Given the description of an element on the screen output the (x, y) to click on. 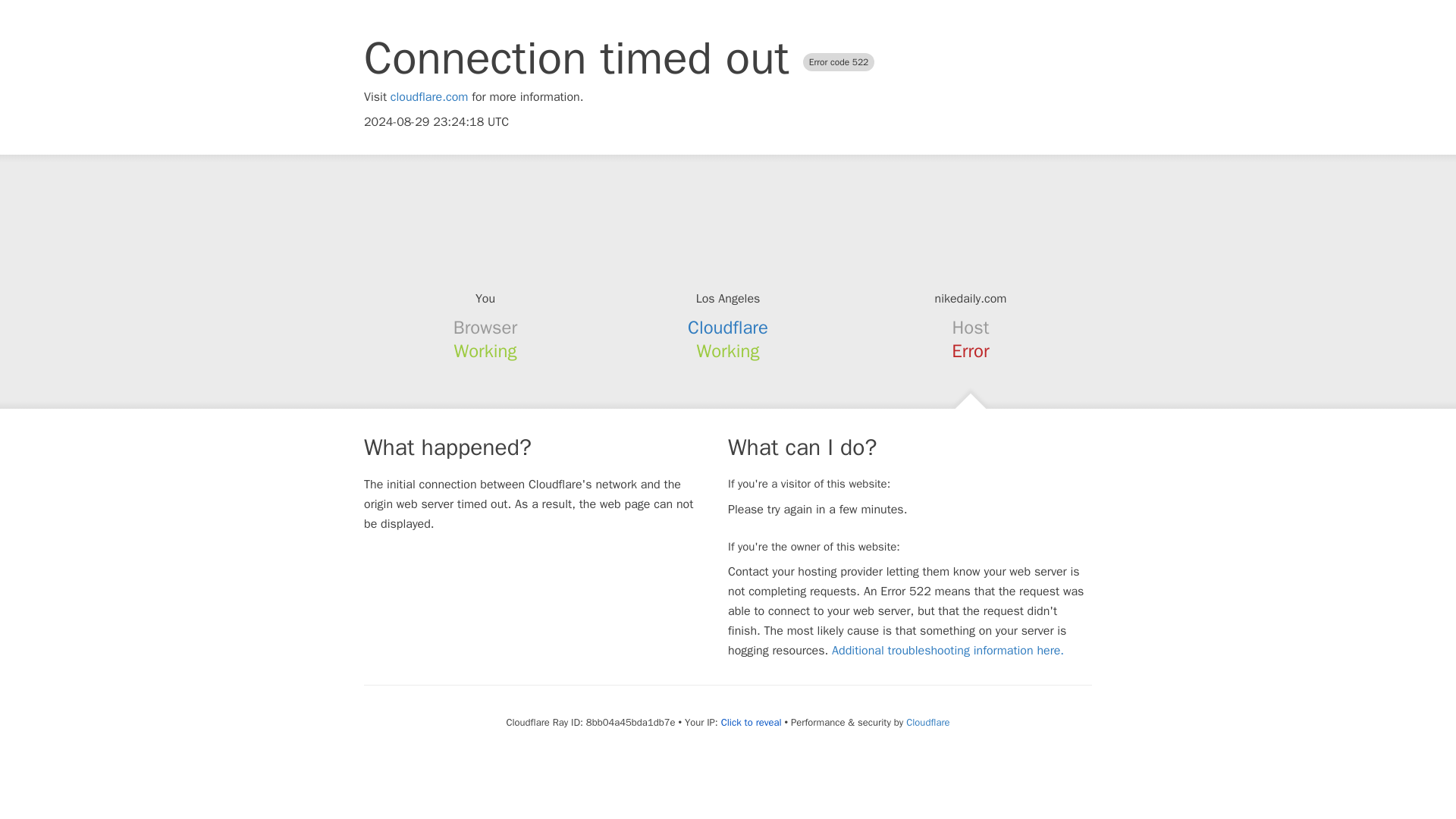
Cloudflare (727, 327)
Cloudflare (927, 721)
cloudflare.com (429, 96)
Click to reveal (750, 722)
Additional troubleshooting information here. (947, 650)
